Given the description of an element on the screen output the (x, y) to click on. 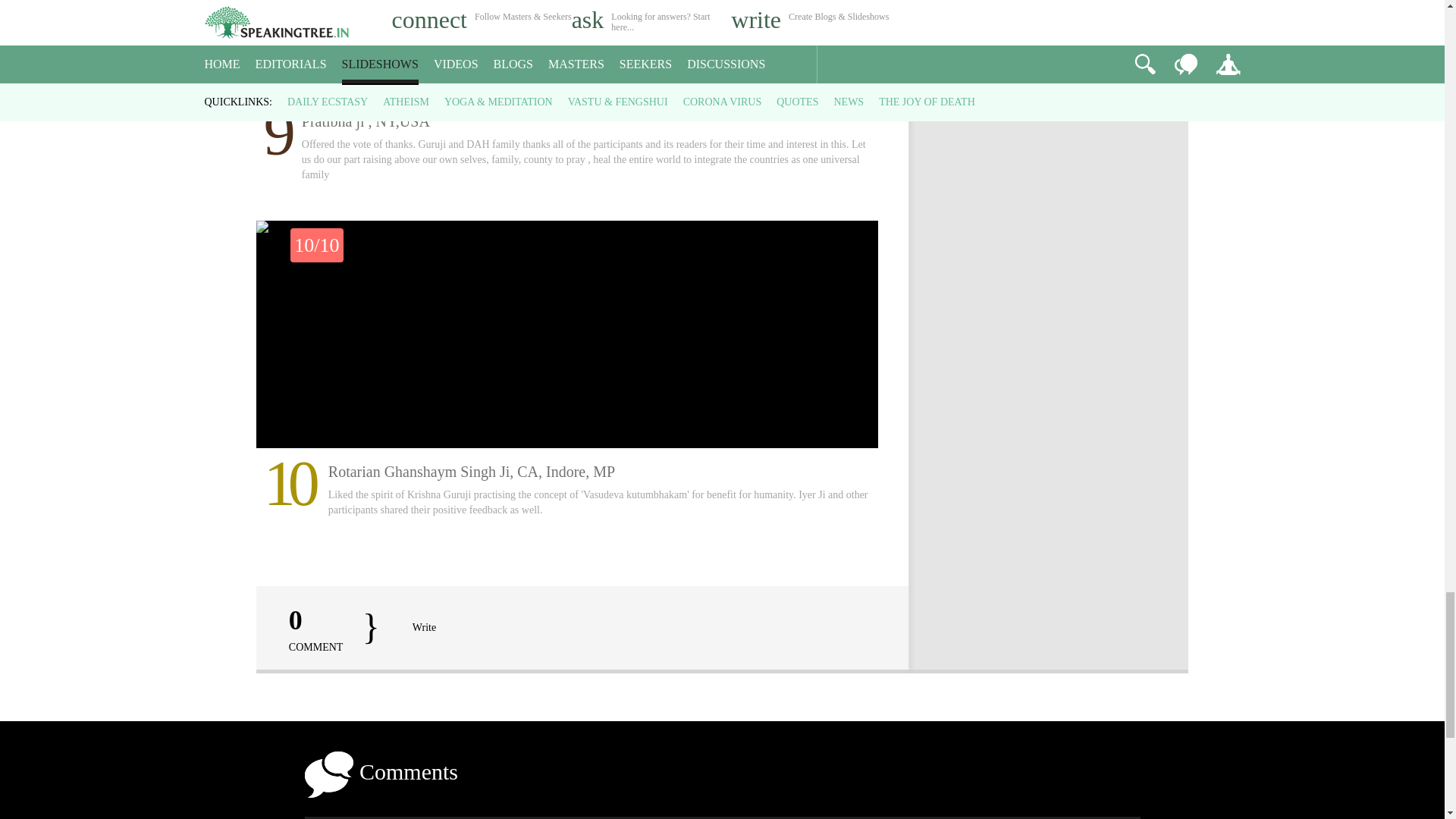
Pratibha ji , NY,USA (567, 48)
